Given the description of an element on the screen output the (x, y) to click on. 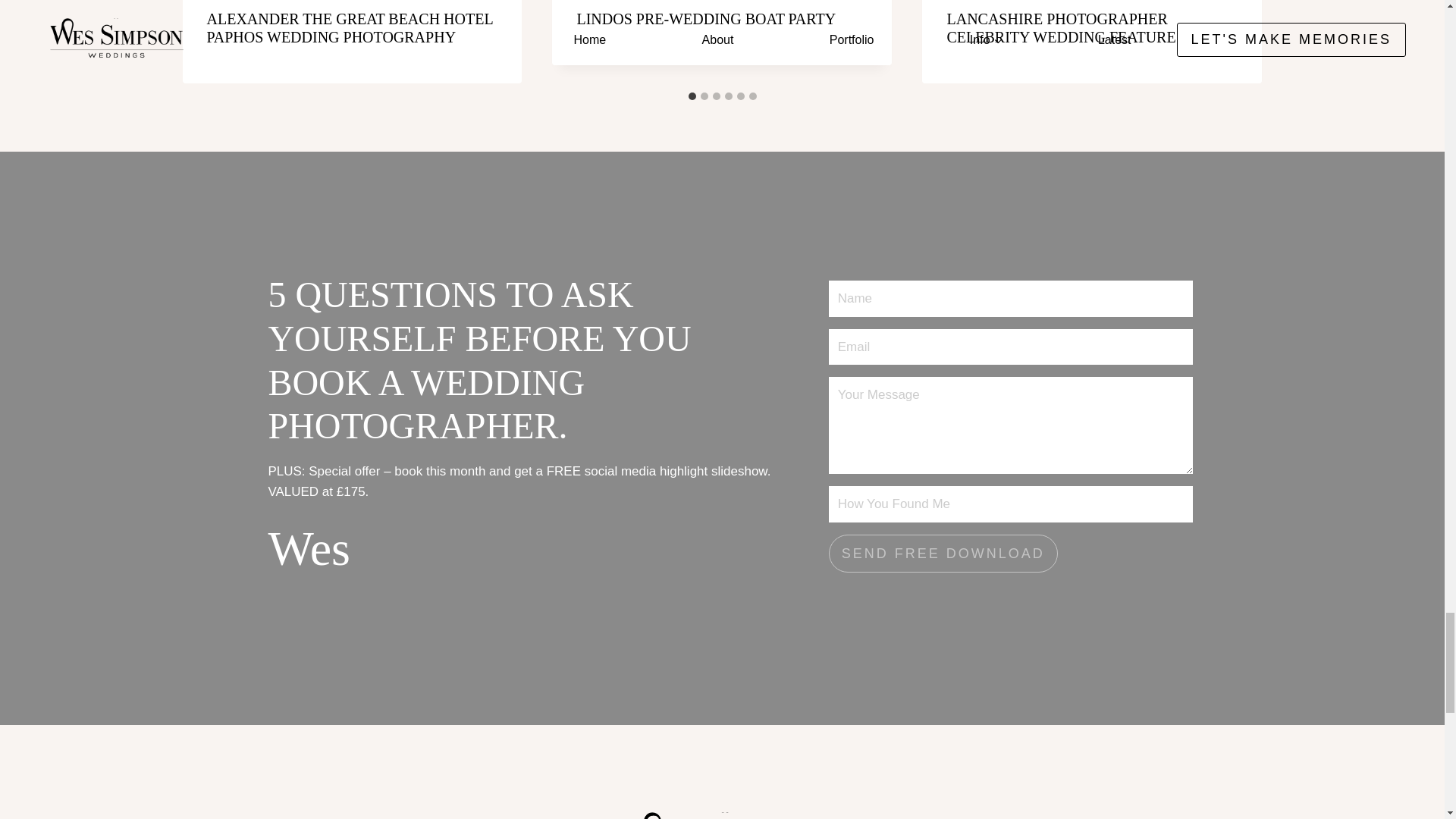
ALEXANDER THE GREAT BEACH HOTEL PAPHOS WEDDING PHOTOGRAPHY (349, 27)
LINDOS PRE-WEDDING BOAT PARTY (705, 18)
LANCASHIRE PHOTOGRAPHER CELEBRITY WEDDING FEATURE (1060, 27)
